Given the description of an element on the screen output the (x, y) to click on. 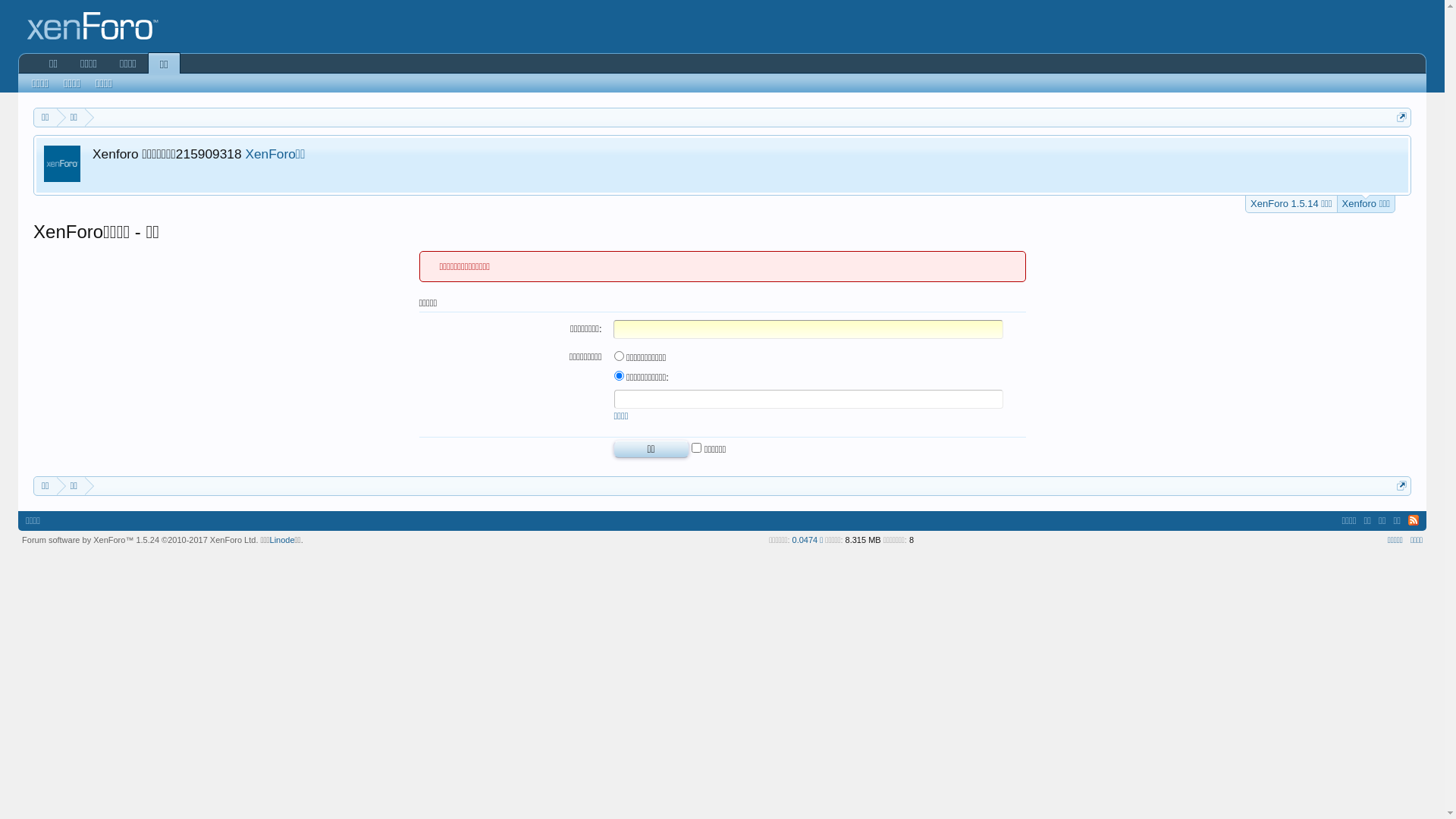
RSS Element type: text (1413, 519)
Linode Element type: text (281, 539)
